Given the description of an element on the screen output the (x, y) to click on. 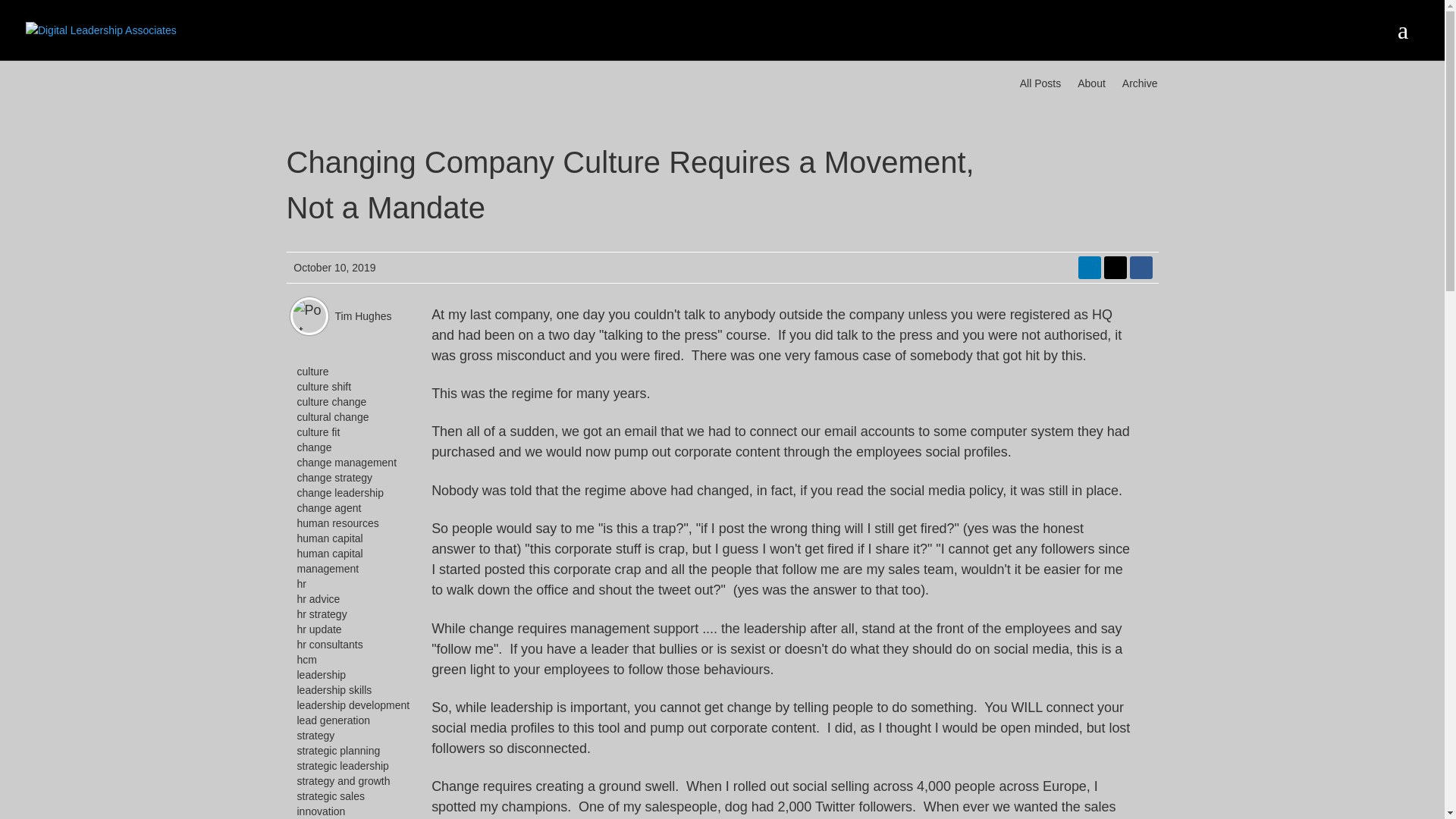
All Posts (1037, 83)
Archive (1138, 83)
About (1089, 83)
